Given the description of an element on the screen output the (x, y) to click on. 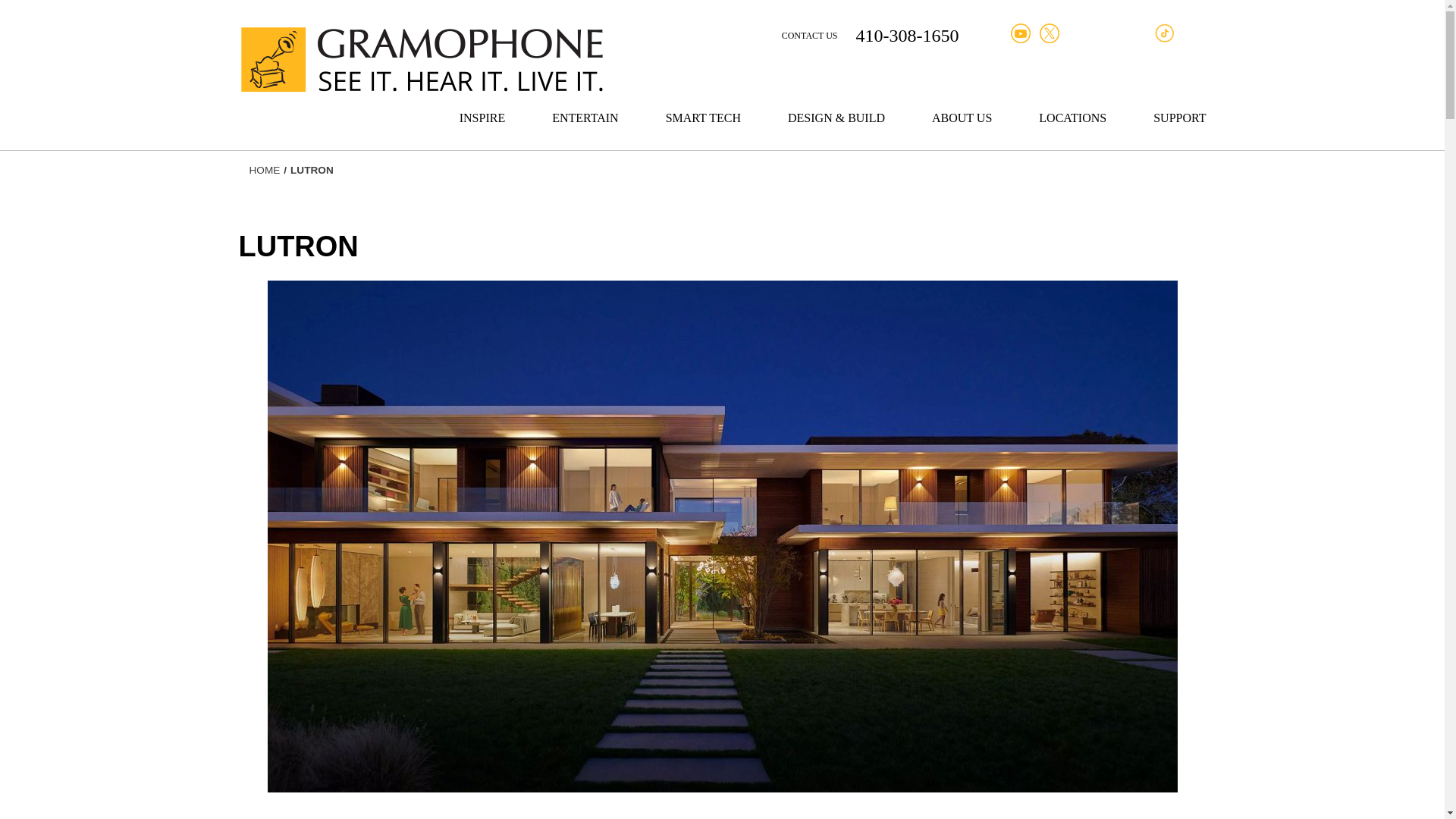
INSPIRE (481, 129)
410-308-1650 (907, 35)
CONTACT US (809, 35)
SMART TECH (703, 129)
ENTERTAIN (585, 129)
ABOUT US (961, 129)
The best in home audio, video, and more. (585, 129)
